Given the description of an element on the screen output the (x, y) to click on. 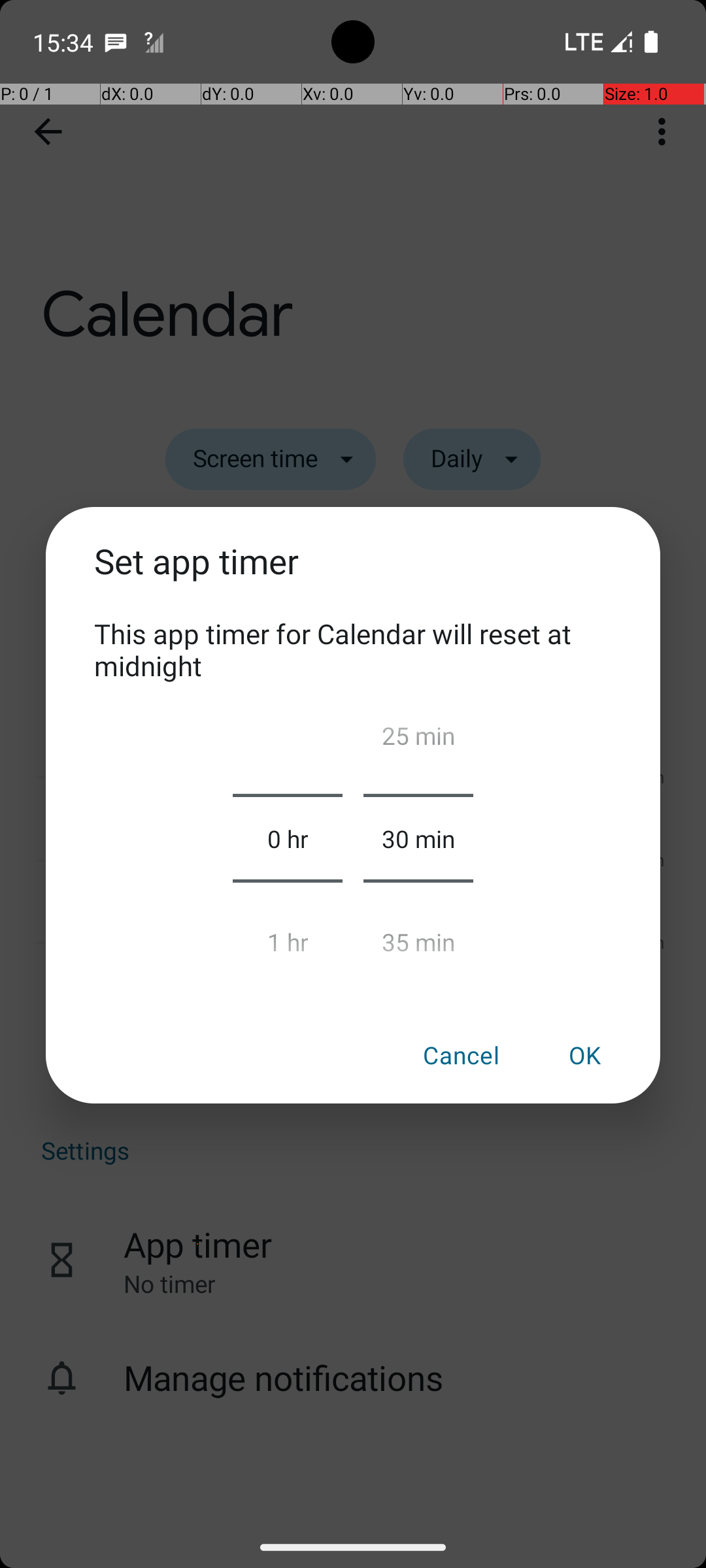
Set app timer Element type: android.widget.TextView (352, 575)
This app timer for Calendar will reset at midnight Element type: android.widget.TextView (352, 649)
0 hr Element type: android.widget.EditText (287, 838)
1 hr Element type: android.widget.Button (287, 936)
25 min Element type: android.widget.Button (418, 740)
30 min Element type: android.widget.EditText (418, 838)
35 min Element type: android.widget.Button (418, 936)
